Given the description of an element on the screen output the (x, y) to click on. 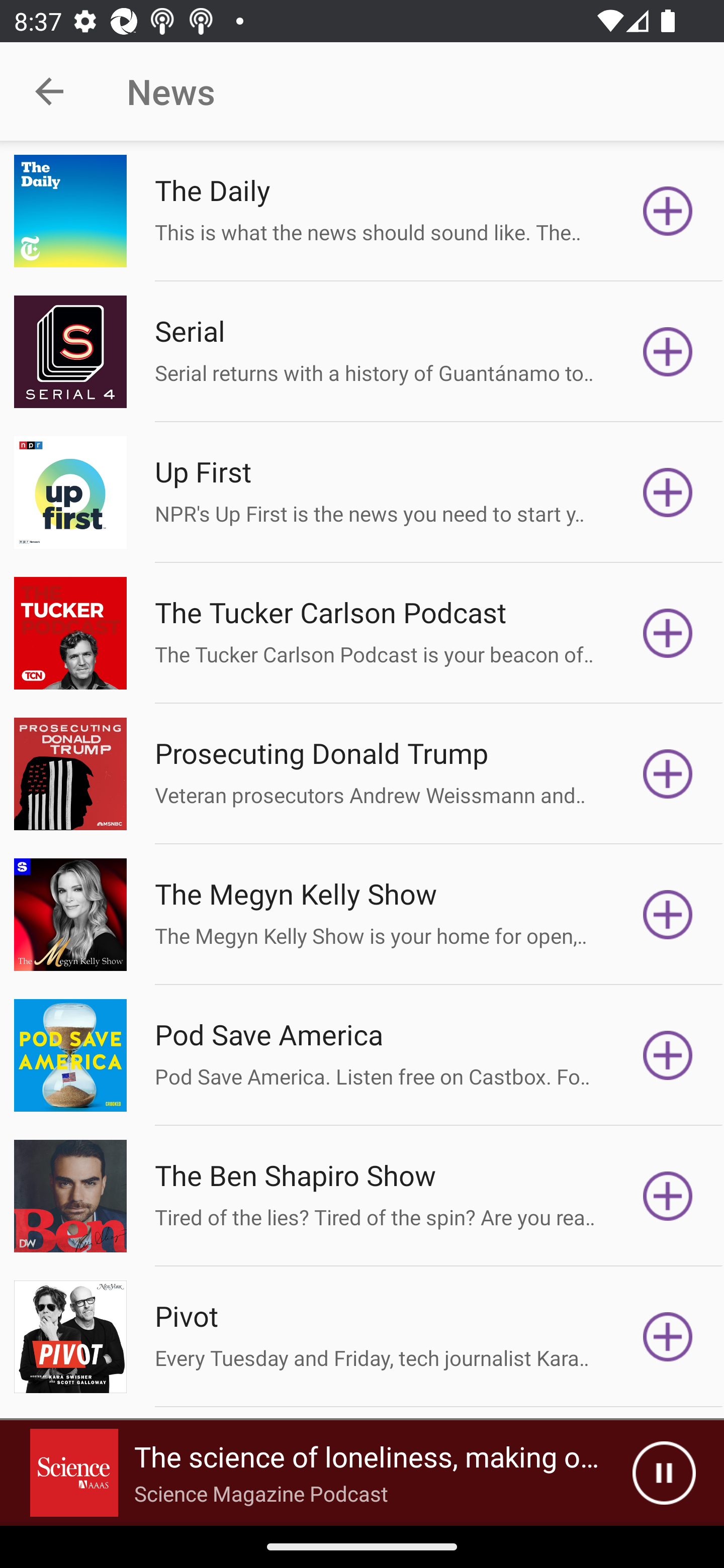
Navigate up (49, 91)
Subscribe (667, 211)
Subscribe (667, 350)
Subscribe (667, 491)
Subscribe (667, 633)
Subscribe (667, 773)
Subscribe (667, 913)
Subscribe (667, 1054)
Subscribe (667, 1195)
Subscribe (667, 1336)
Pause (663, 1472)
